Given the description of an element on the screen output the (x, y) to click on. 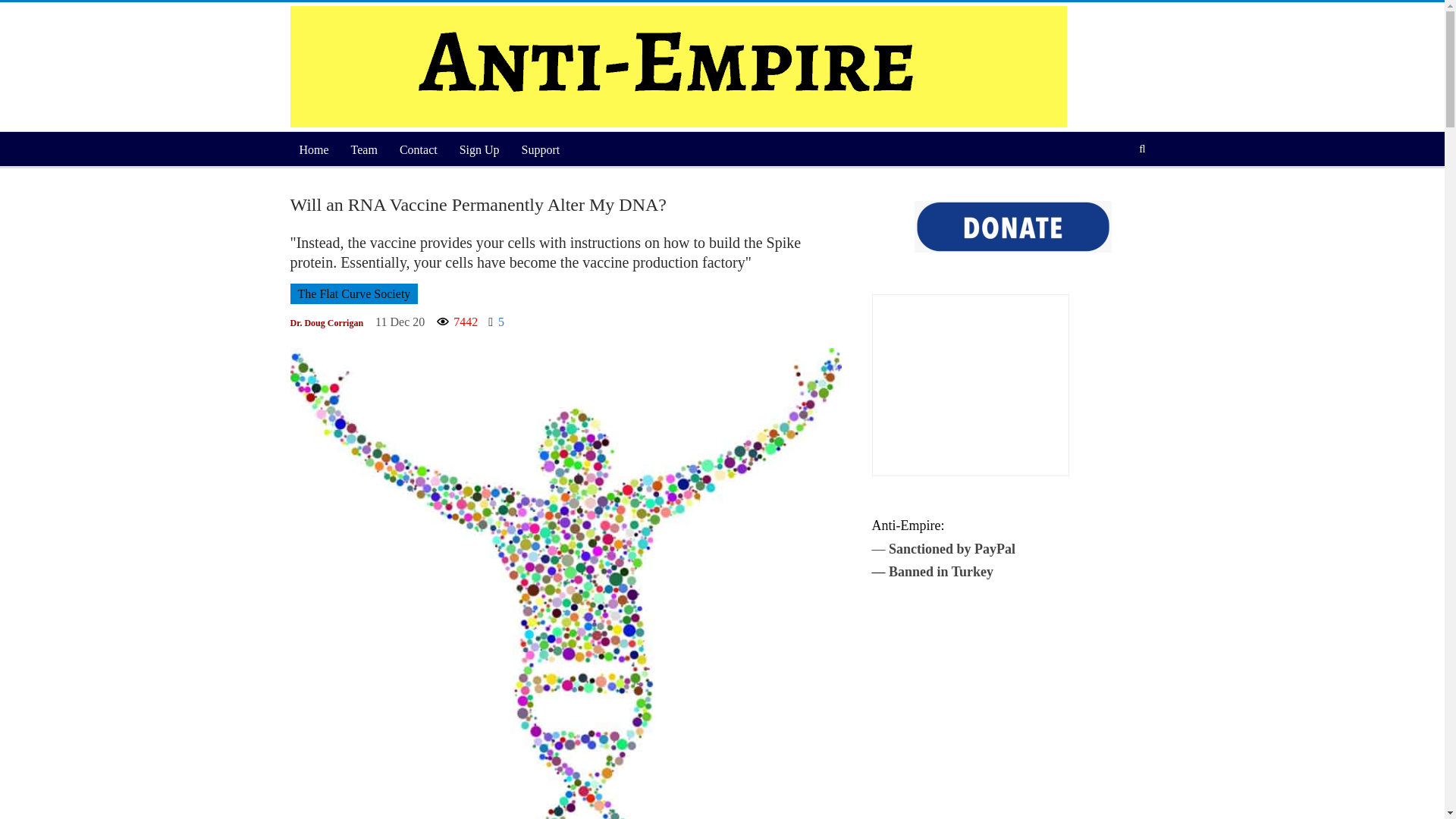
Support (540, 149)
Banned in Turkey (940, 571)
Home (313, 149)
Dr. Doug Corrigan (325, 322)
Browse Author Articles (325, 322)
The Flat Curve Society (353, 293)
Contact (418, 149)
Sign Up (478, 149)
Team (364, 149)
